Given the description of an element on the screen output the (x, y) to click on. 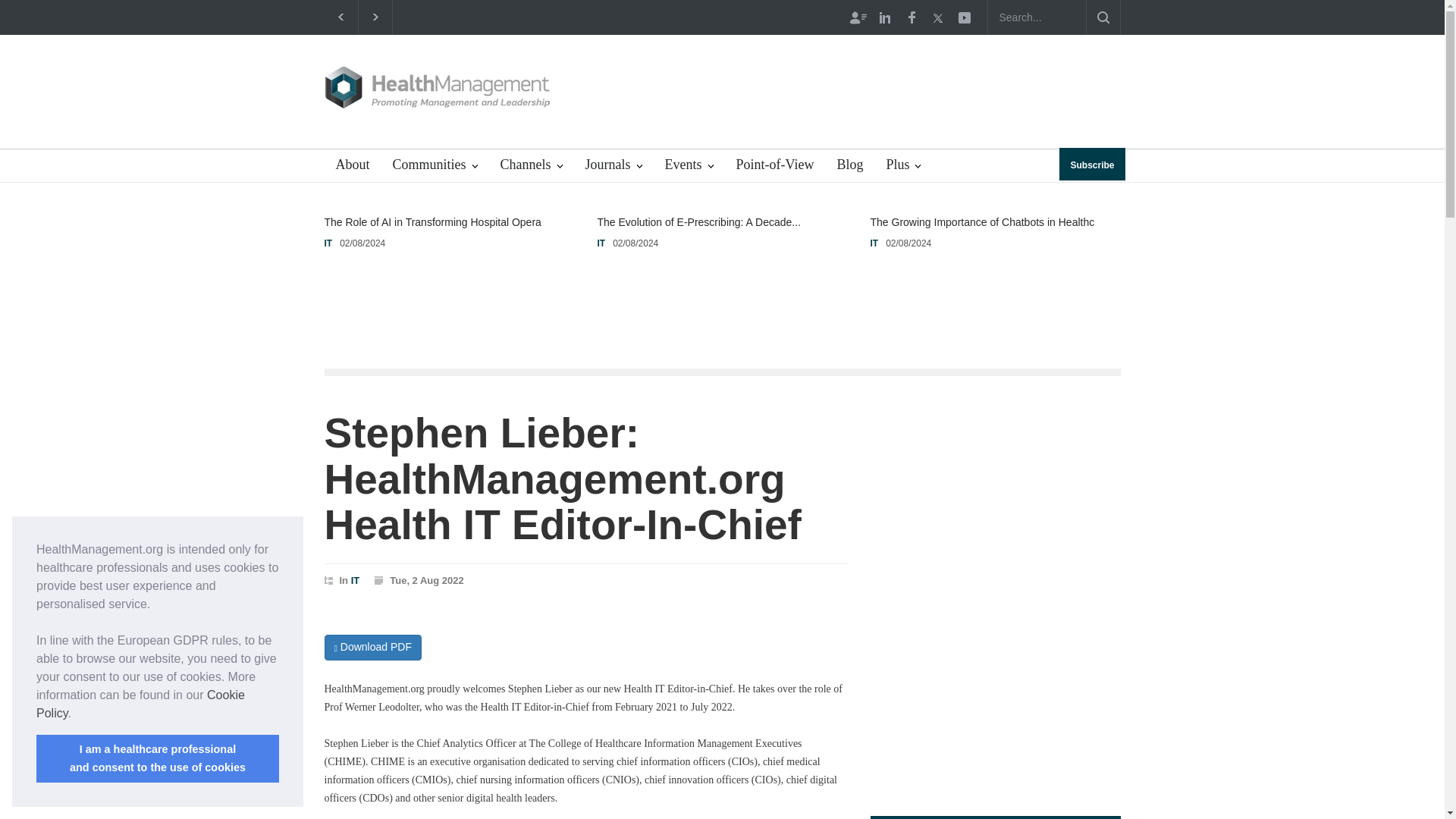
About (346, 165)
Search text (1036, 17)
Left (339, 16)
Search (1102, 17)
twitter (937, 16)
Channels (531, 165)
Communities (433, 165)
Communities (433, 165)
linkedin (884, 16)
